Given the description of an element on the screen output the (x, y) to click on. 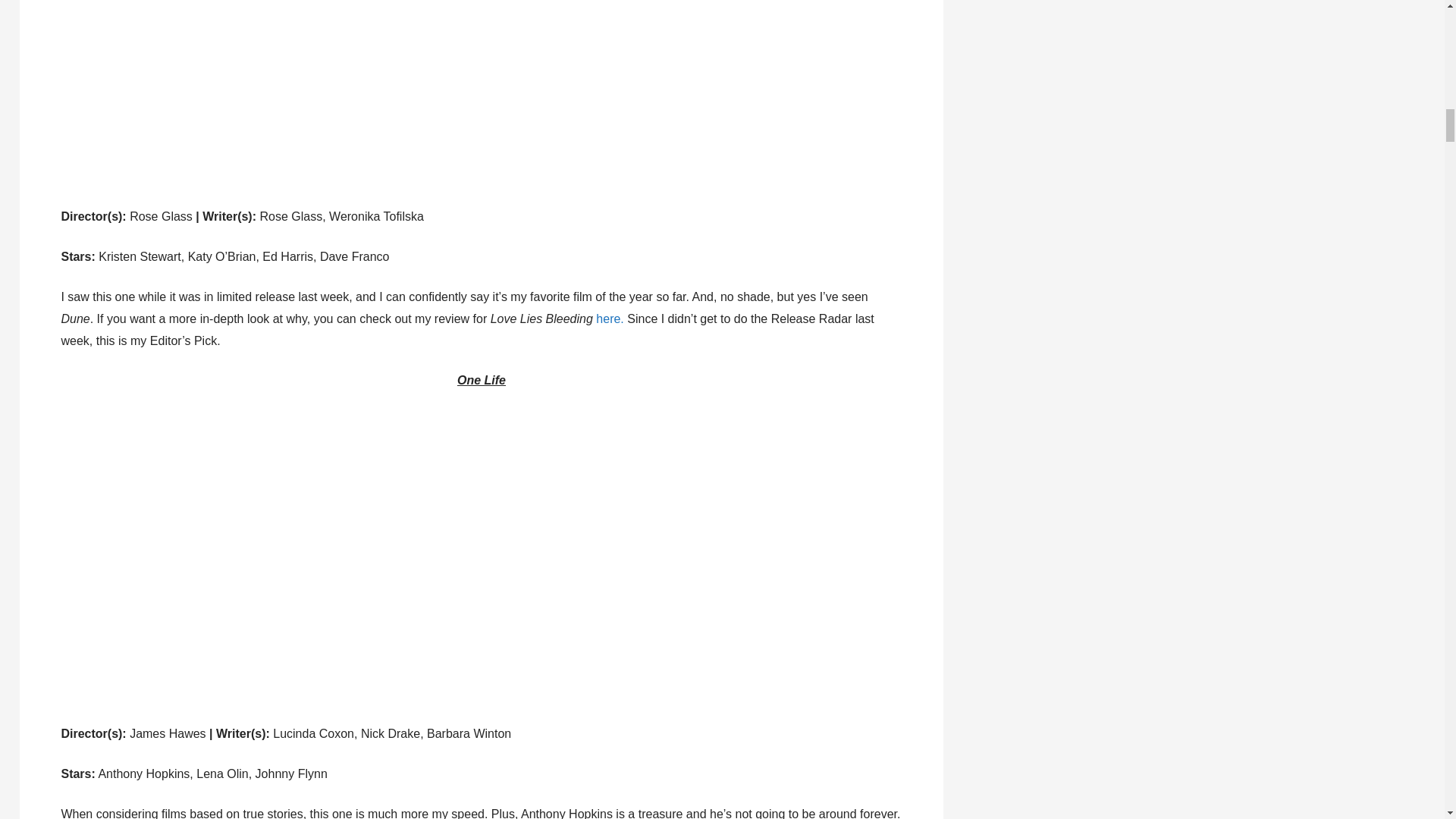
here. (611, 318)
